Given the description of an element on the screen output the (x, y) to click on. 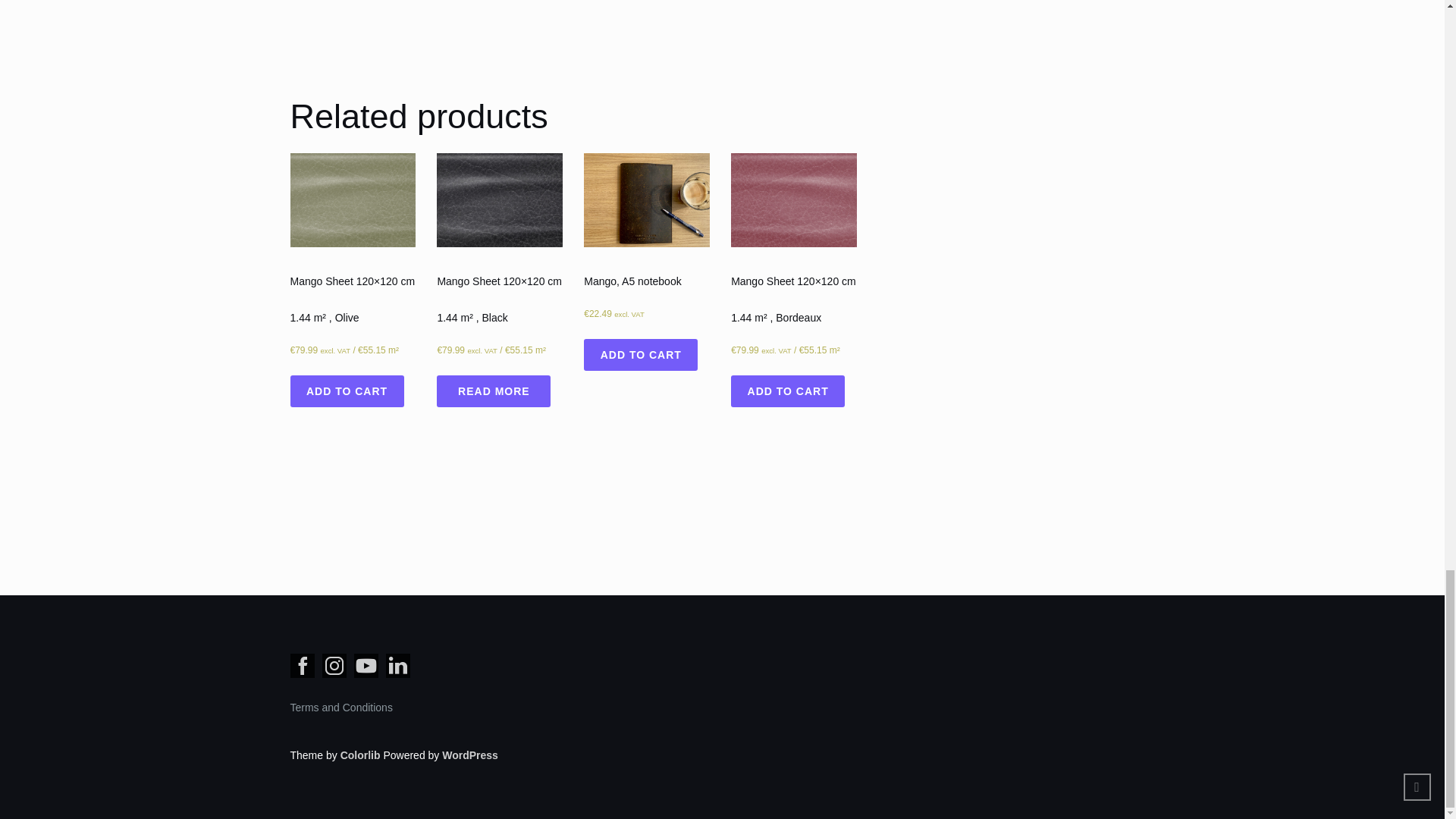
Colorlib (360, 755)
Follow Us on linkedin (397, 665)
Terms and Conditions (340, 707)
ADD TO CART (346, 391)
ADD TO CART (787, 391)
Follow Us on youtube (365, 665)
ADD TO CART (640, 355)
WordPress.org (469, 755)
Follow Us on facebook (301, 665)
Follow Us on instagram (333, 665)
READ MORE (493, 391)
